Given the description of an element on the screen output the (x, y) to click on. 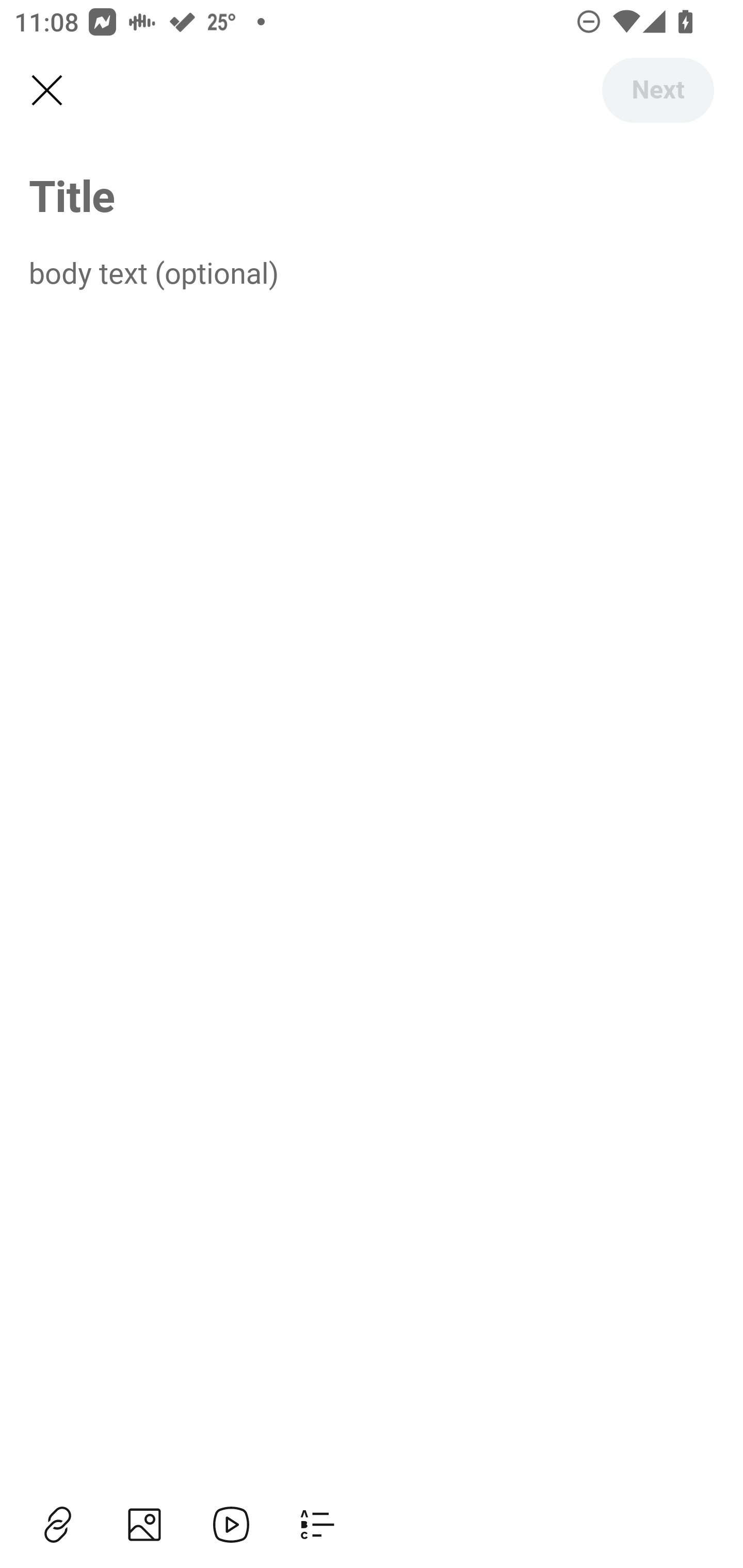
Close (46, 90)
Next (657, 90)
Post title (371, 195)
body text (optional) (371, 271)
